Given the description of an element on the screen output the (x, y) to click on. 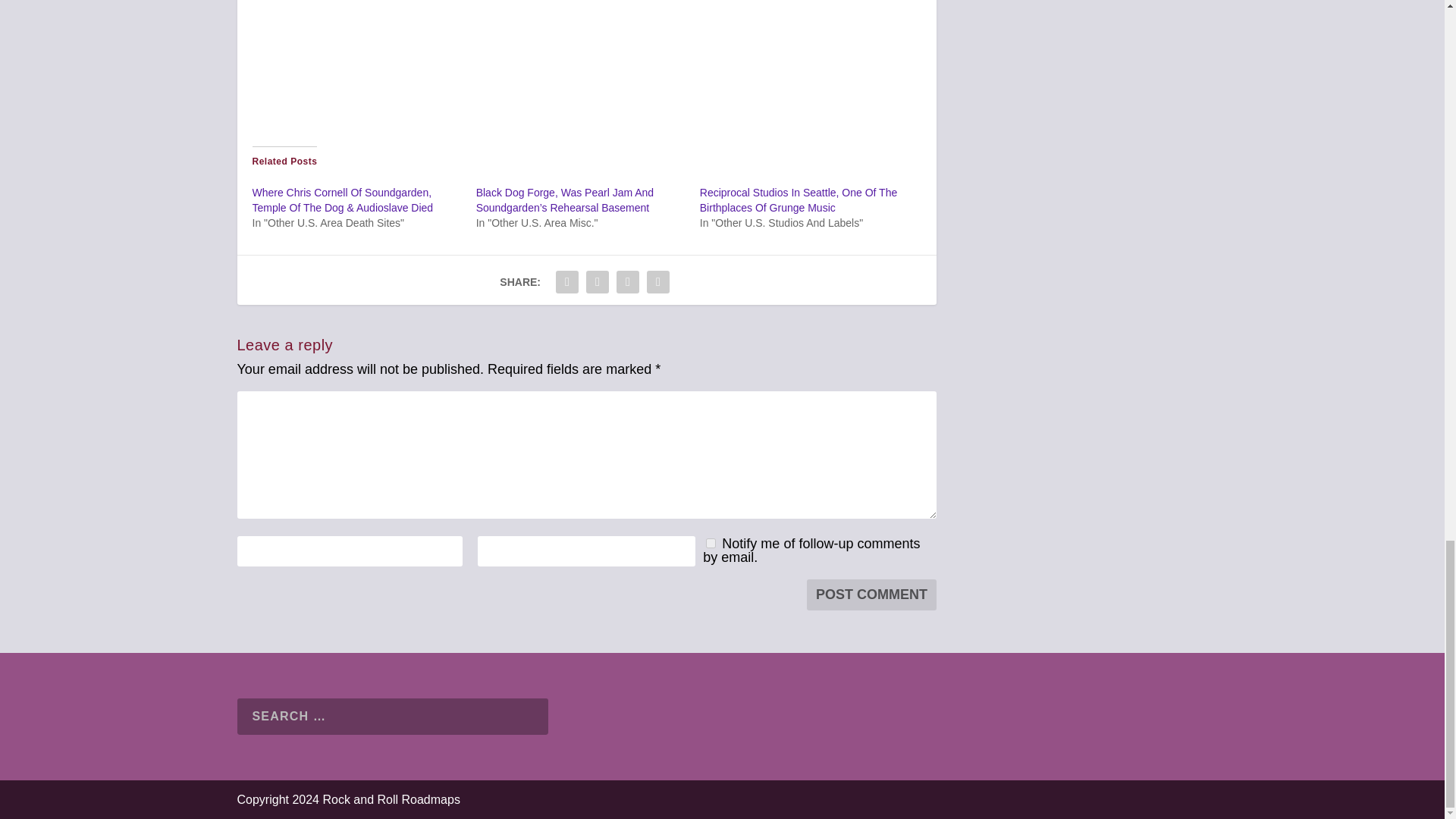
subscribe (711, 542)
Post Comment (871, 594)
